Given the description of an element on the screen output the (x, y) to click on. 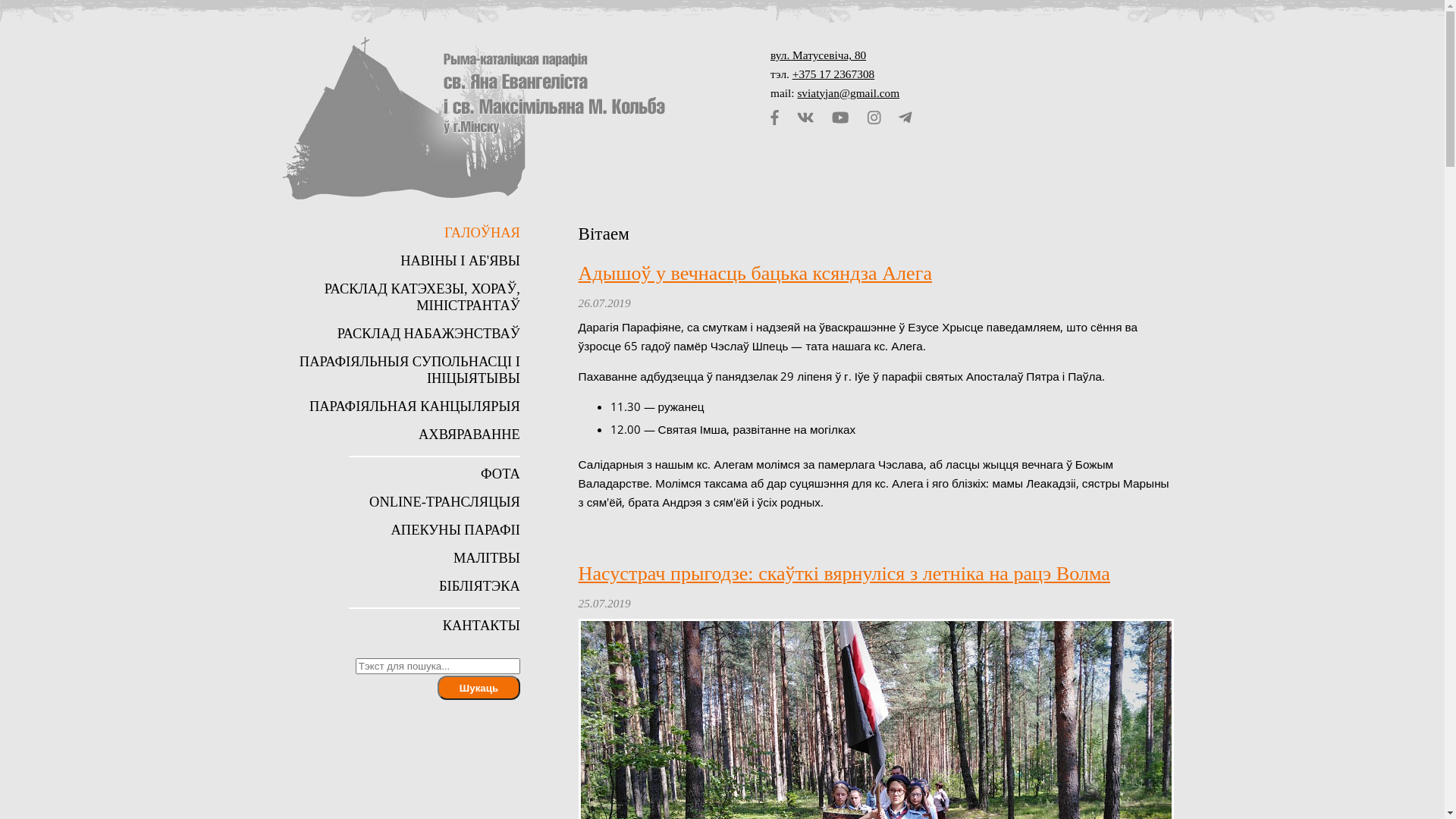
+375 17 2367308 Element type: text (833, 73)
sviatyjan@gmail.com Element type: text (848, 92)
